Given the description of an element on the screen output the (x, y) to click on. 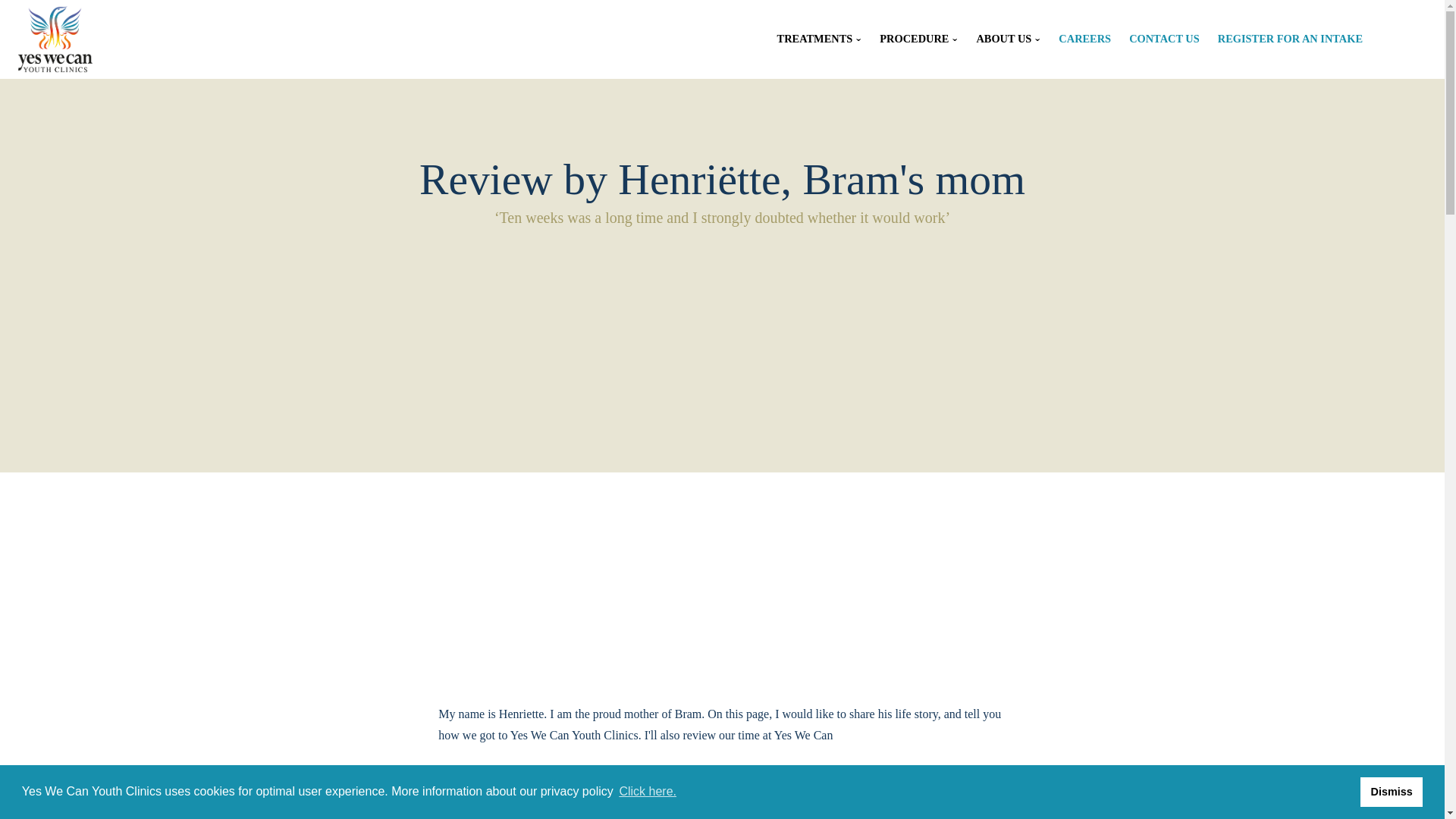
Dismiss (1390, 791)
Click here. (646, 791)
Home (55, 38)
